Given the description of an element on the screen output the (x, y) to click on. 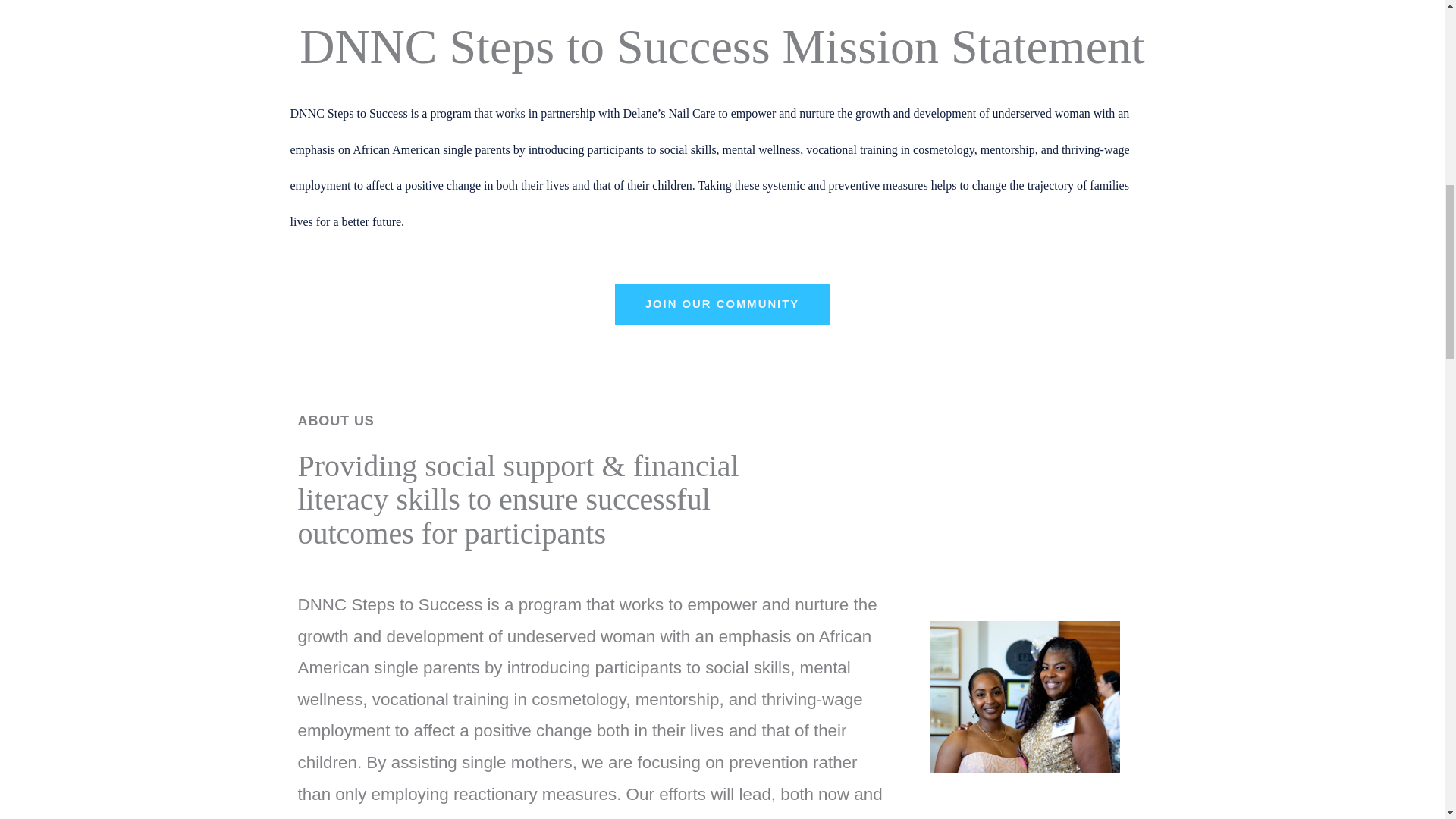
JOIN OUR COMMUNITY (721, 304)
